Given the description of an element on the screen output the (x, y) to click on. 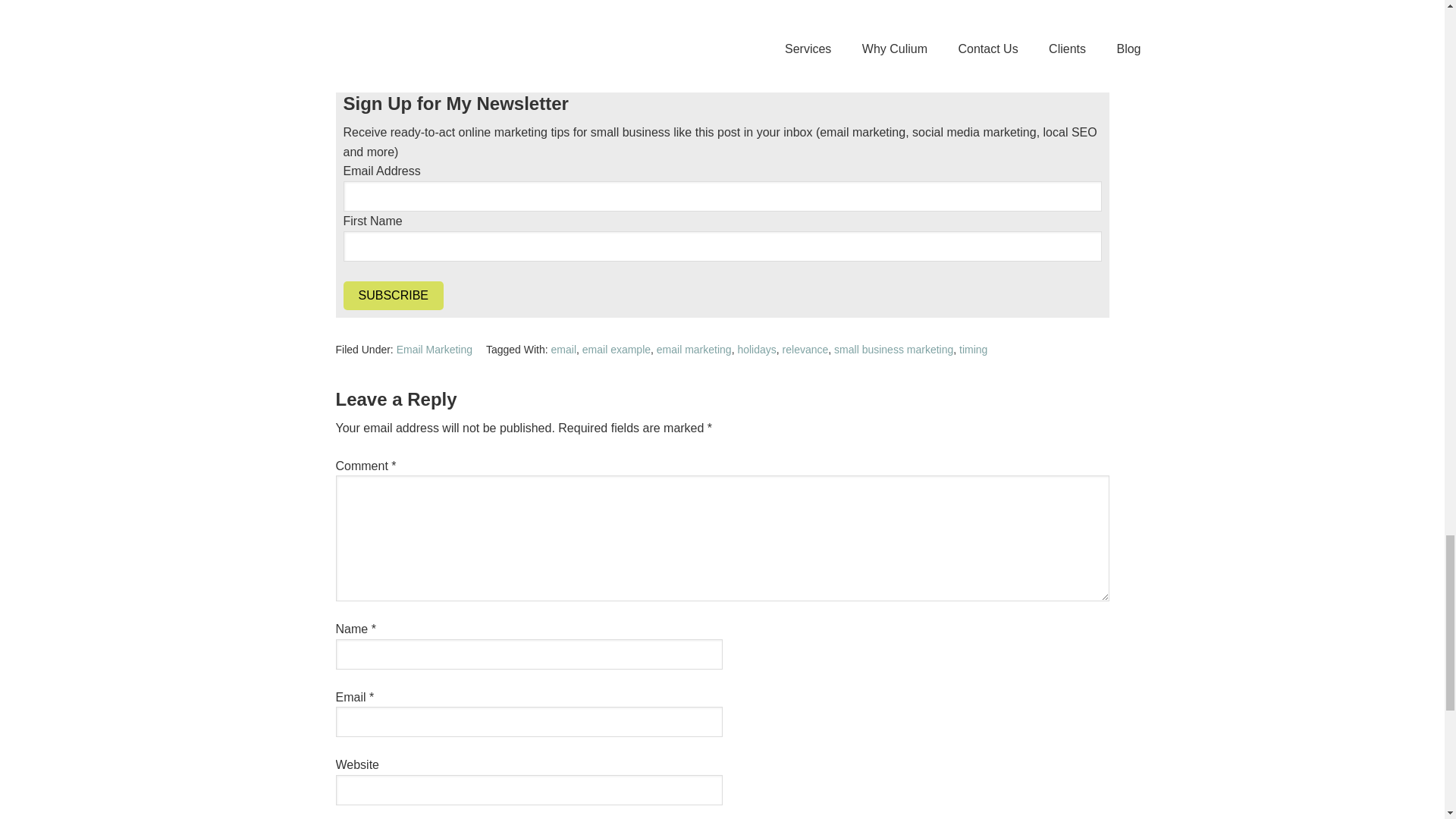
timing (973, 349)
email (563, 349)
Subscribe (392, 295)
email example (616, 349)
Subscribe (392, 295)
holidays (756, 349)
small business marketing (893, 349)
relevance (805, 349)
Email Marketing (433, 349)
email marketing (694, 349)
